Given the description of an element on the screen output the (x, y) to click on. 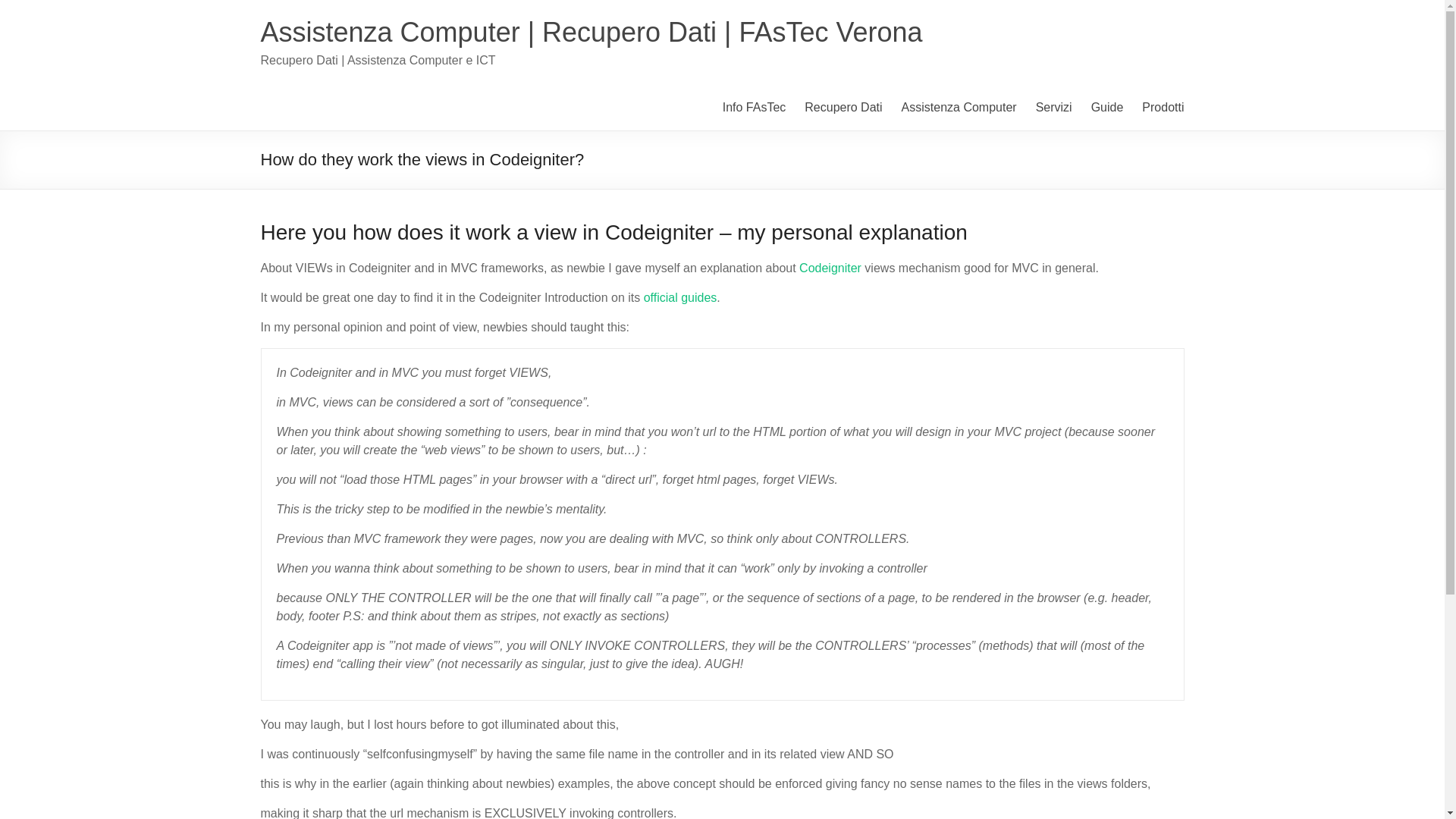
Recupero Dati (843, 107)
Guide (1107, 107)
Codeigniter (830, 267)
Assistenza Computer (958, 107)
Prodotti (1162, 107)
Info FAsTec (754, 107)
Servizi (1053, 107)
official guides (680, 297)
